Given the description of an element on the screen output the (x, y) to click on. 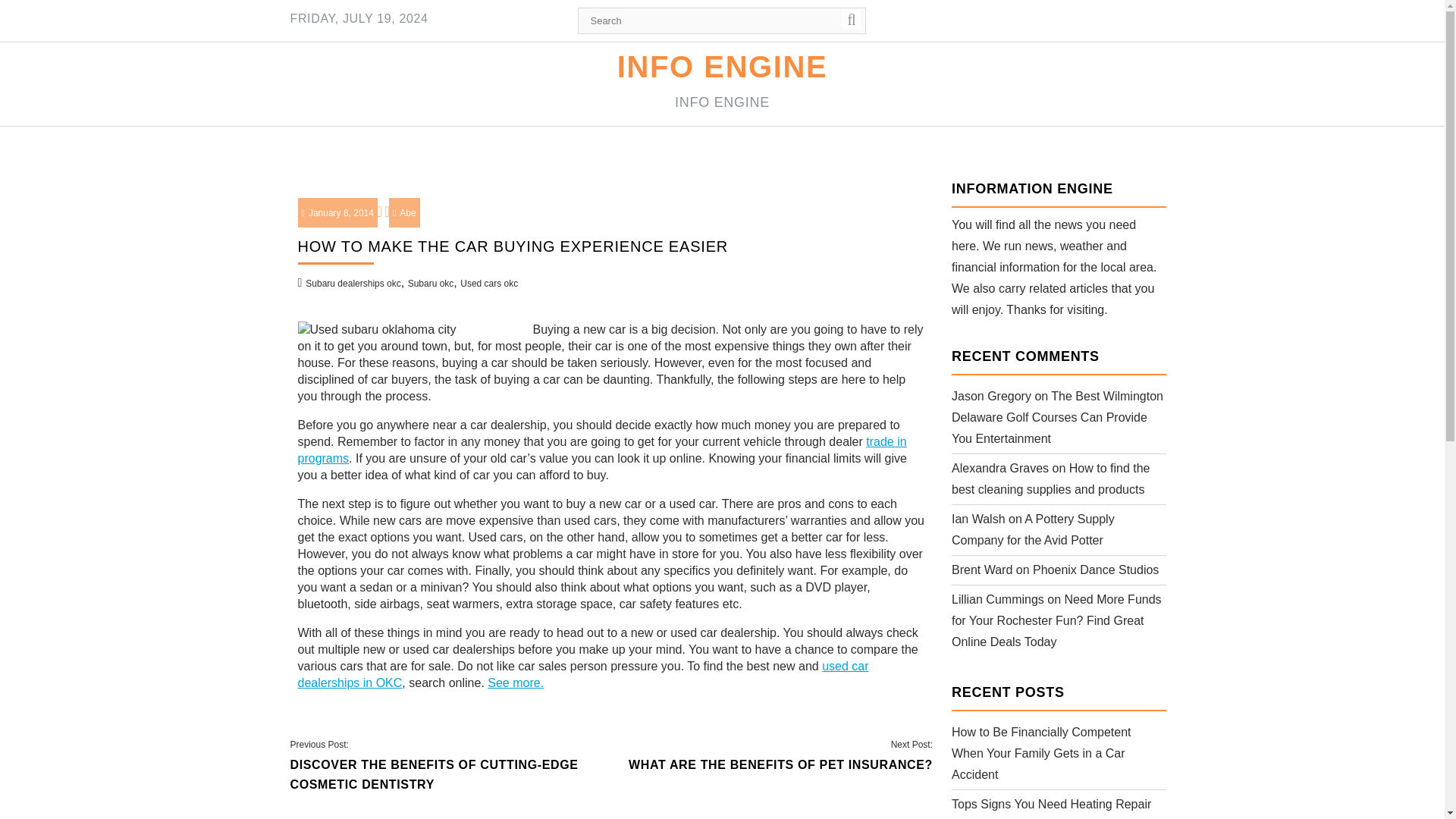
Phoenix Dance Studios (1095, 569)
Lillian Cummings (997, 599)
INFO ENGINE (722, 66)
More information about New subaru (515, 682)
Subaru okc, Subru (582, 674)
Subaru dealerships okc (352, 283)
Used cars okc (489, 283)
trade in programs (601, 449)
See more. (515, 682)
Ian Walsh (979, 518)
Jason Gregory (991, 395)
